Given the description of an element on the screen output the (x, y) to click on. 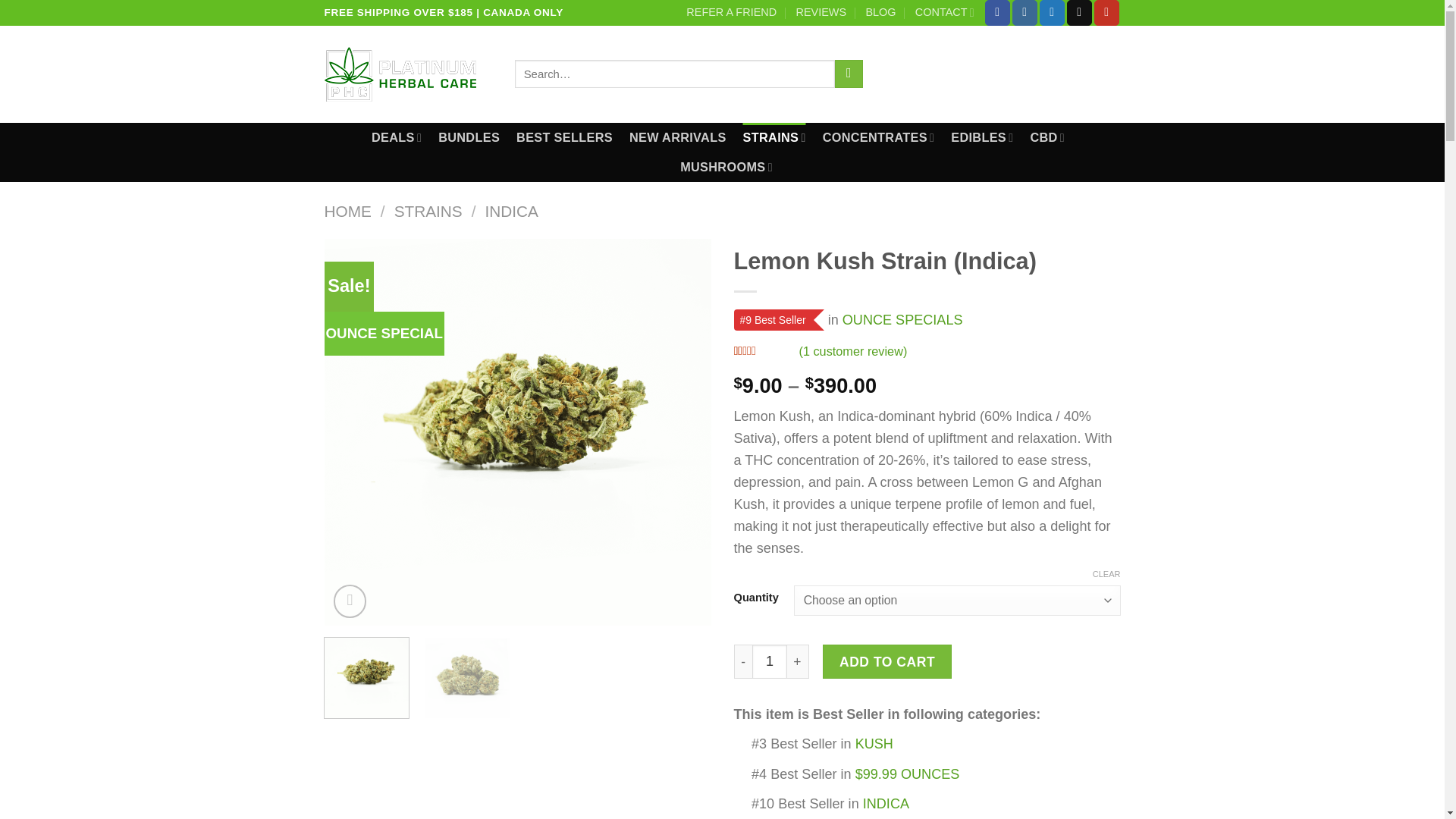
Follow on Instagram (1023, 12)
CONTACT (944, 12)
Search (848, 73)
Login (922, 74)
DEALS (396, 137)
1 (769, 661)
CONCENTRATES (878, 137)
Platinum Herbal Care - Best Online Dispensary in Canada (408, 73)
NEW ARRIVALS (677, 137)
BEST SELLERS (564, 137)
STRAINS (774, 137)
Follow on Facebook (997, 12)
Send us an email (1079, 12)
Follow on Twitter (1051, 12)
REVIEWS (819, 12)
